Given the description of an element on the screen output the (x, y) to click on. 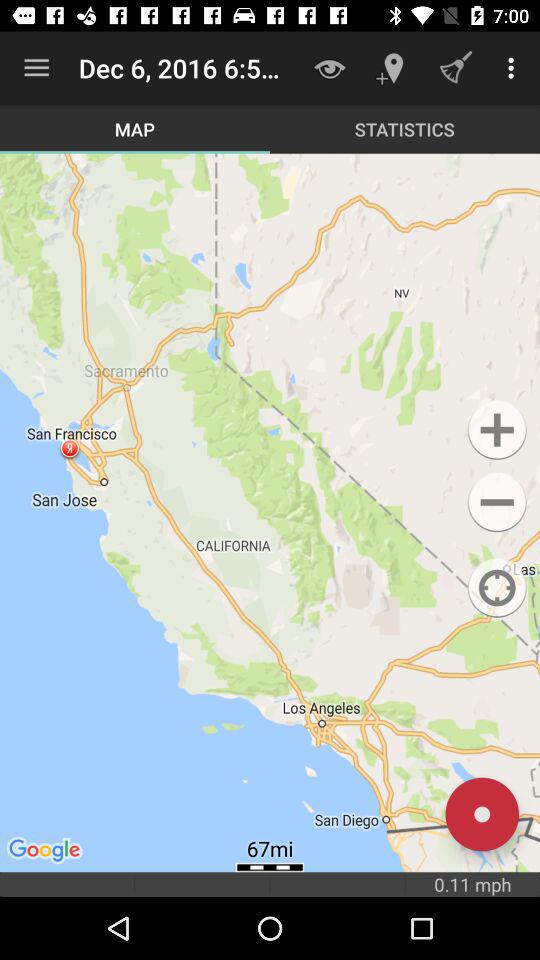
toggle the settings option (496, 502)
